Given the description of an element on the screen output the (x, y) to click on. 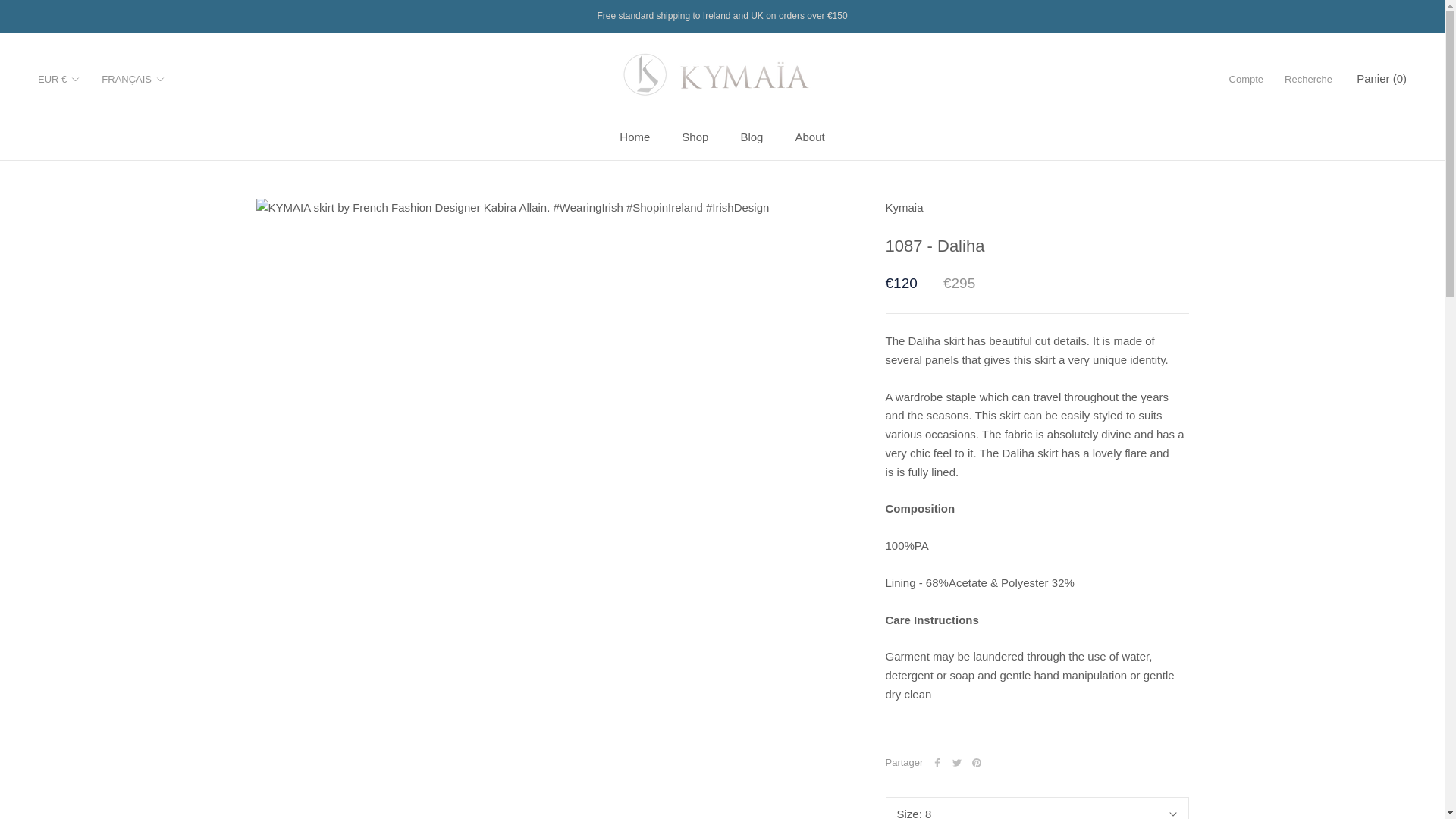
EUR (750, 136)
GBP (634, 136)
USD (76, 114)
Shop (76, 137)
